Given the description of an element on the screen output the (x, y) to click on. 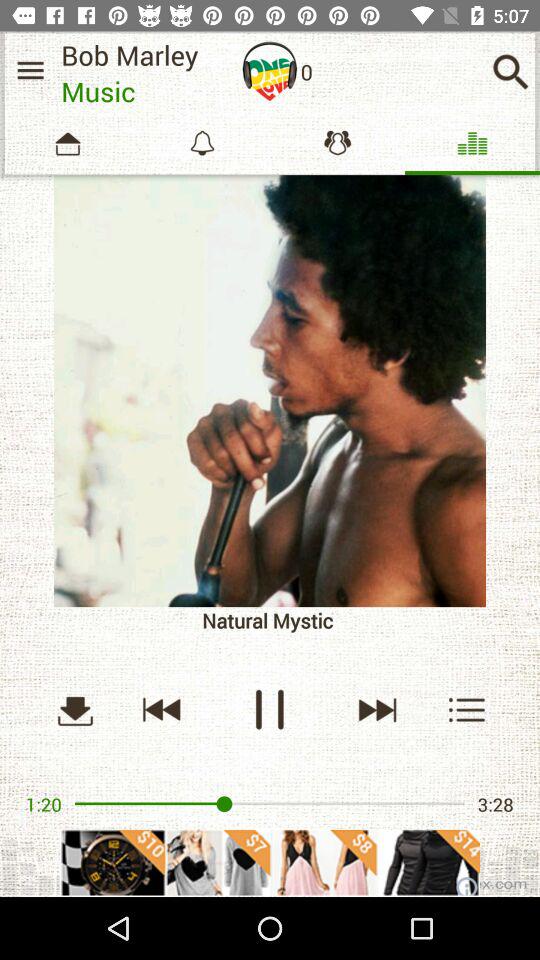
view the playlist (467, 709)
